Given the description of an element on the screen output the (x, y) to click on. 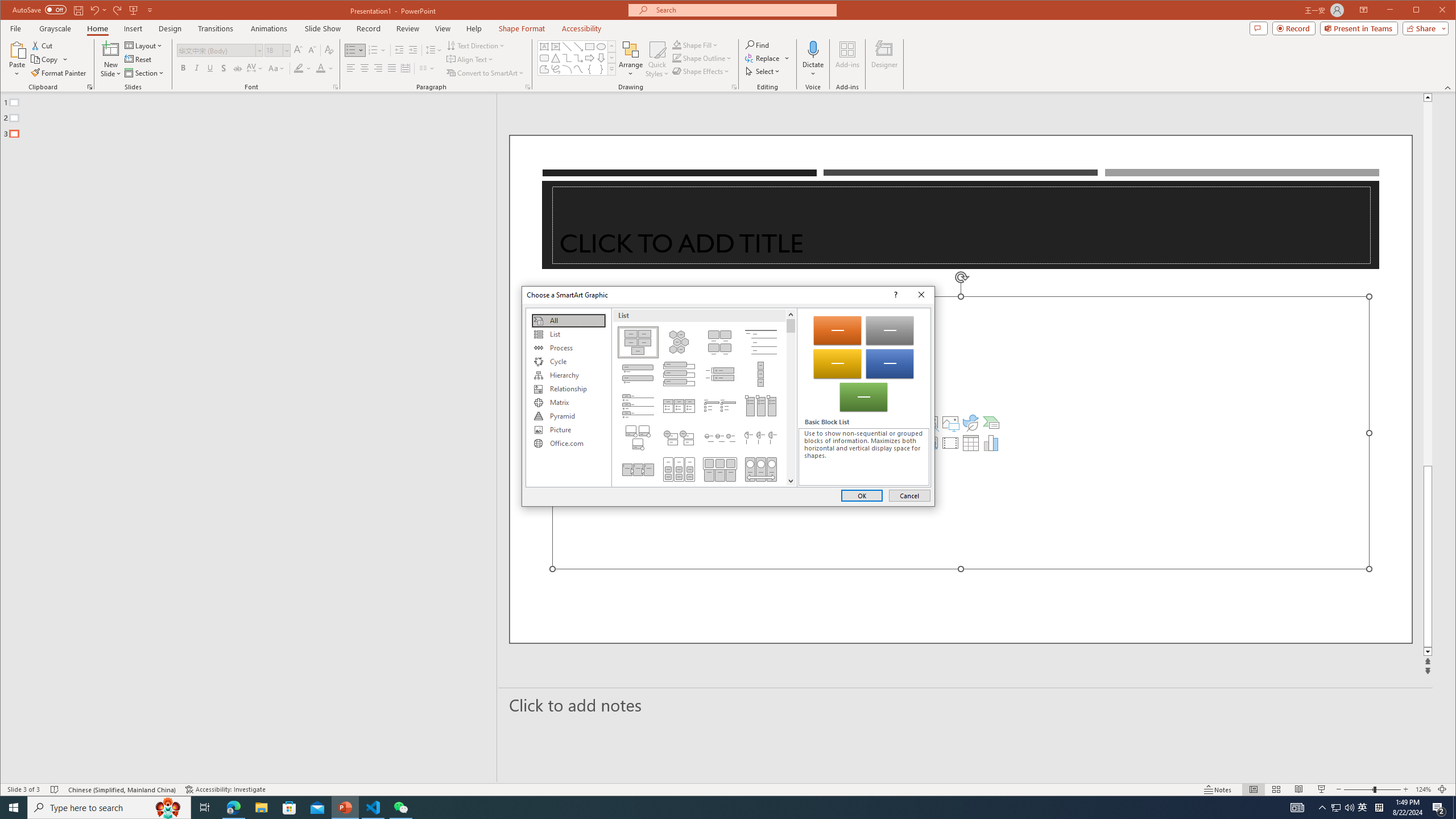
Grouped List (678, 469)
Title TextBox (960, 224)
Zoom 124% (1422, 789)
